Given the description of an element on the screen output the (x, y) to click on. 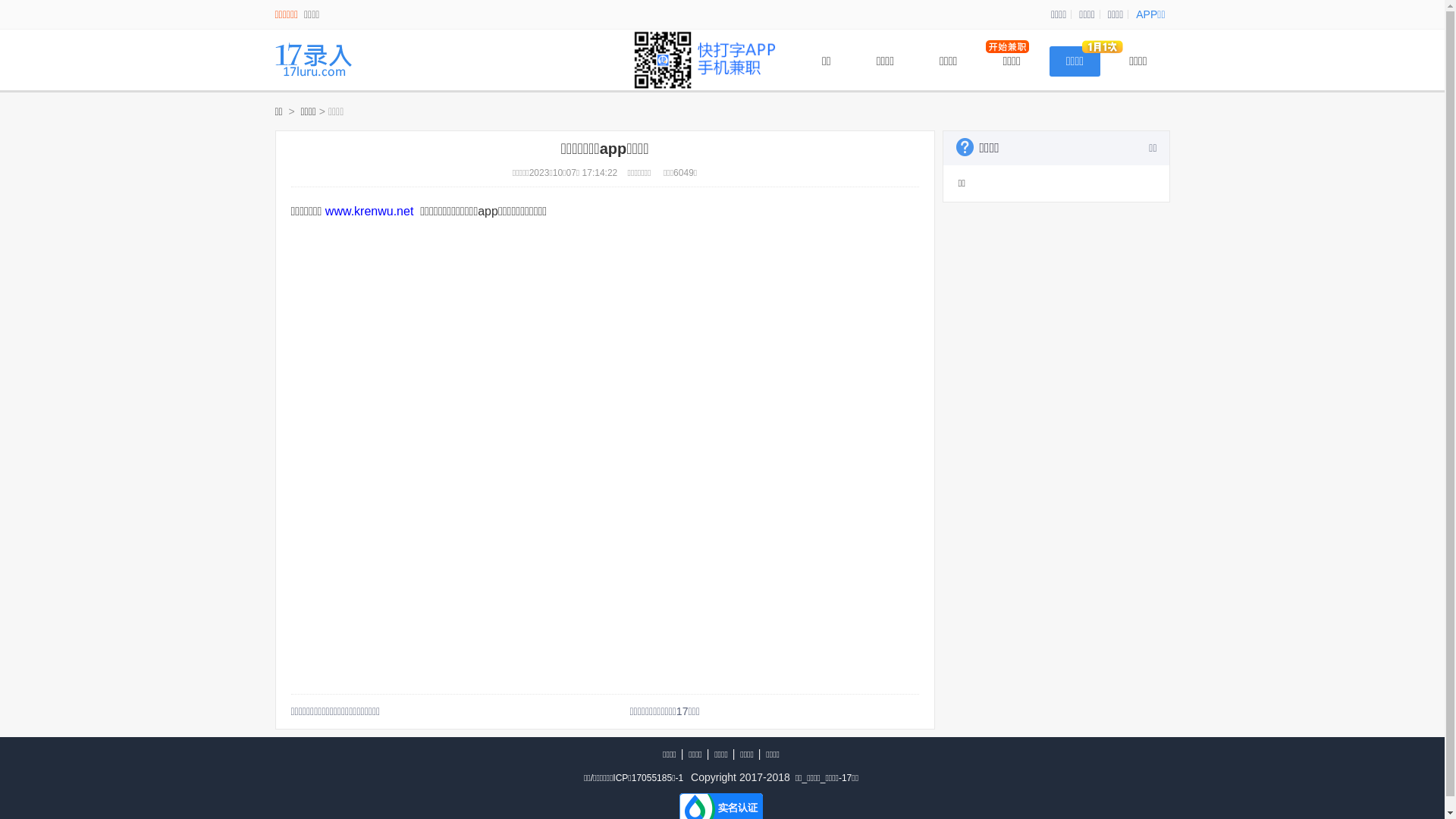
www.krenwu.net Element type: text (369, 210)
